Given the description of an element on the screen output the (x, y) to click on. 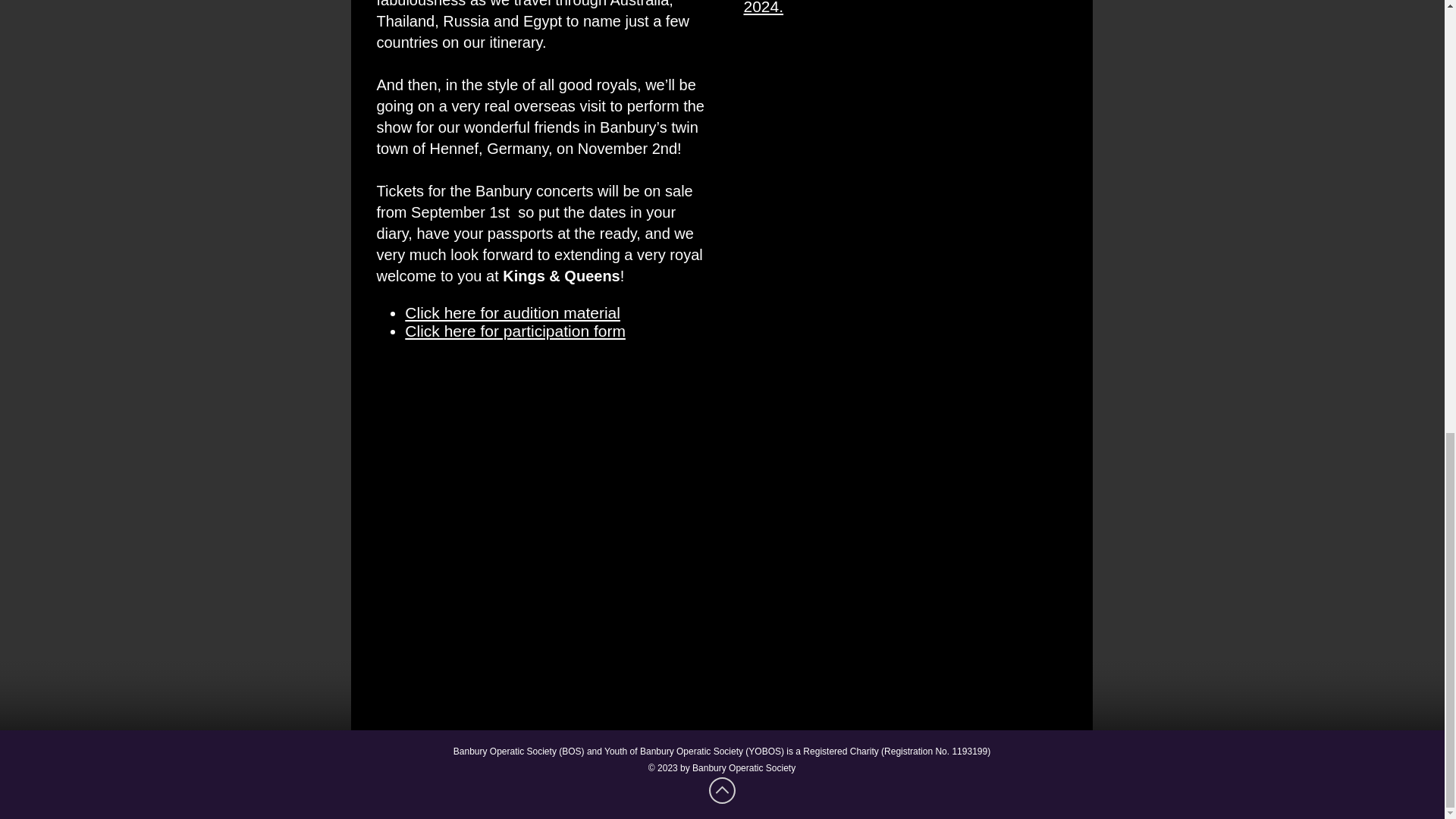
Tickets on sale from 1st September 2024. (867, 7)
Click here for audition material (512, 312)
Click here for participation form (515, 330)
